Given the description of an element on the screen output the (x, y) to click on. 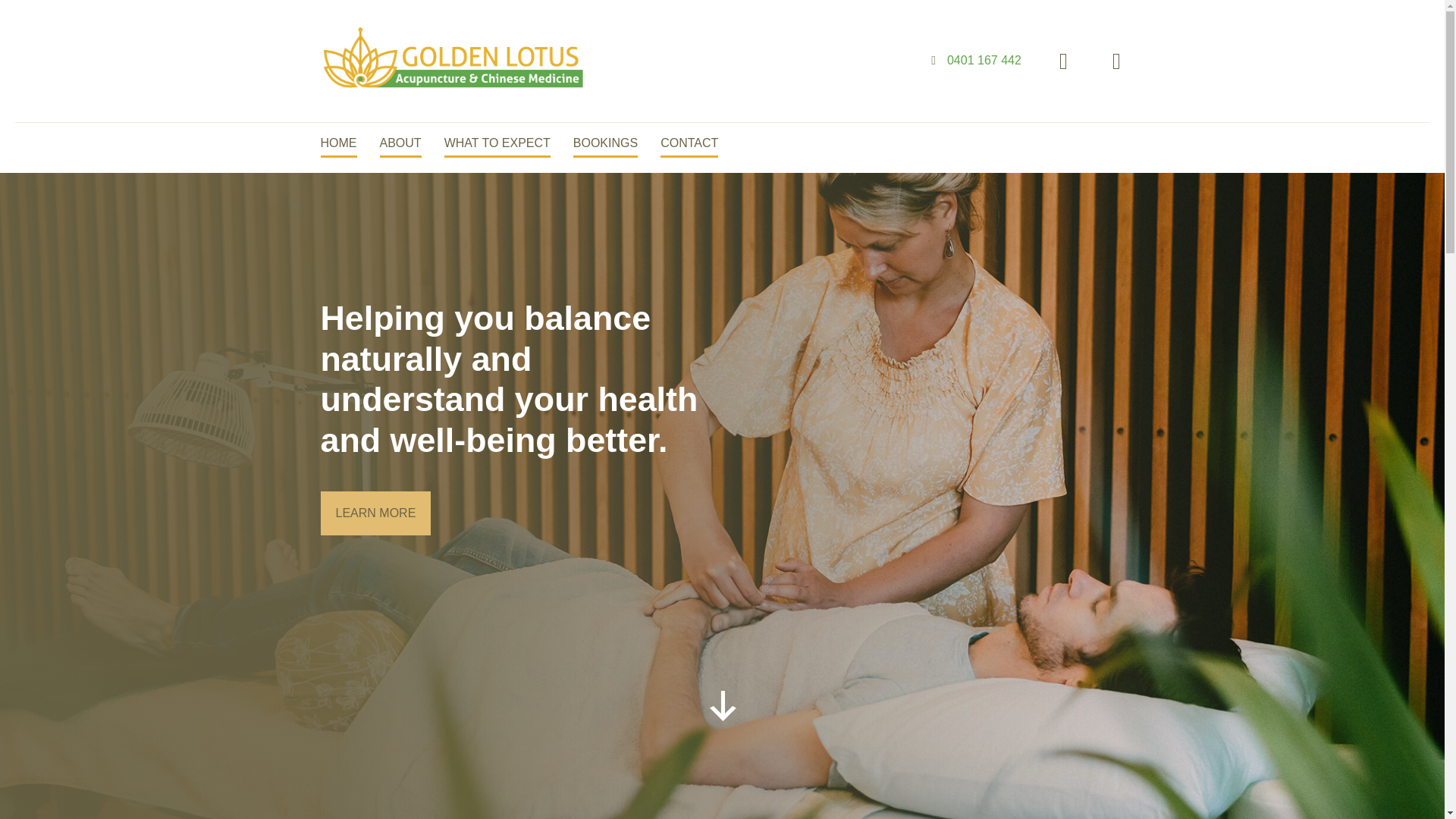
CONTACT (689, 144)
WHAT TO EXPECT (497, 144)
HOME (338, 144)
BOOKINGS (605, 144)
ABOUT (399, 144)
LEARN MORE (337, 513)
0401 167 442 (984, 60)
